Given the description of an element on the screen output the (x, y) to click on. 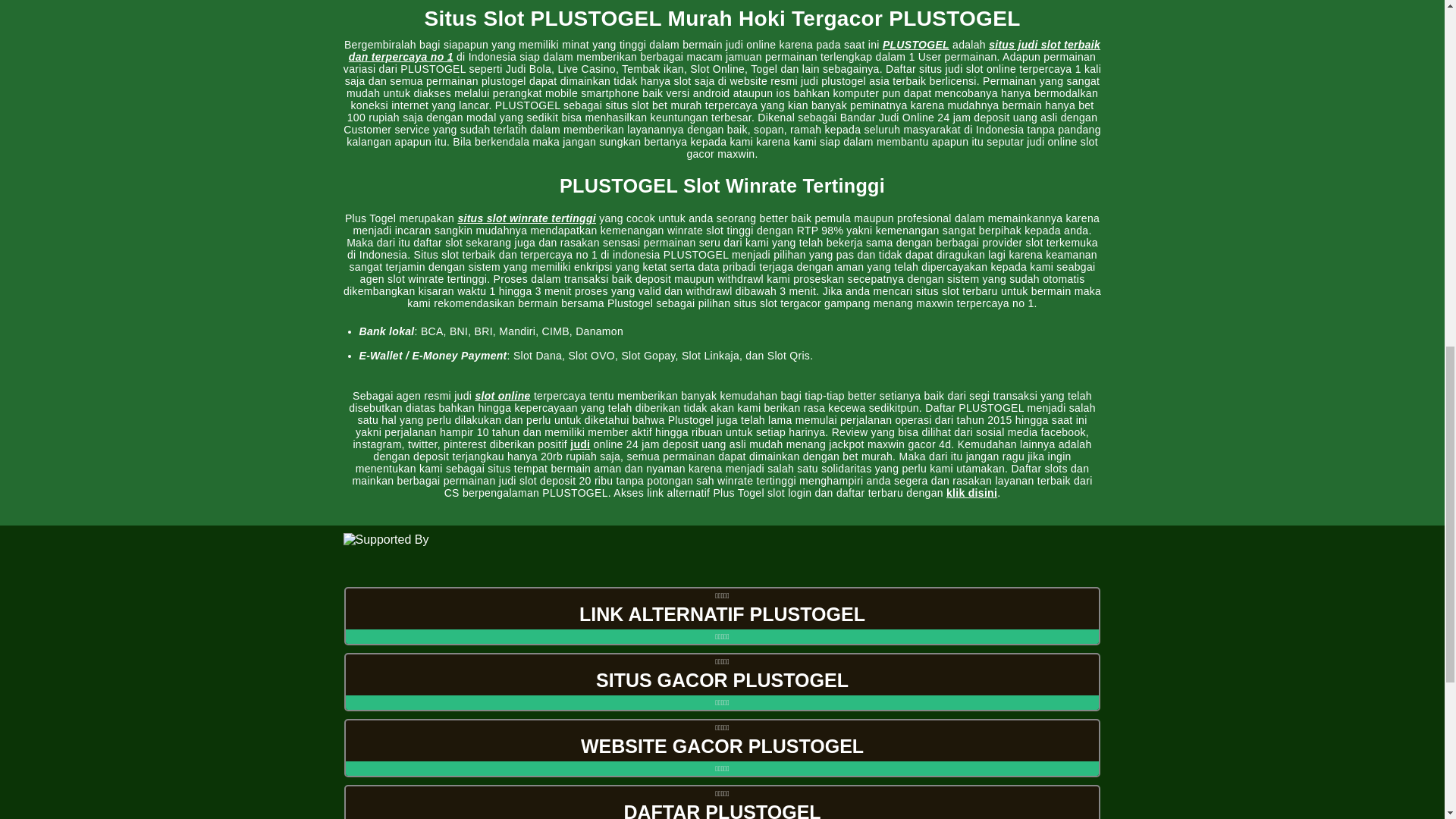
situs judi slot terbaik dan terpercaya no 1 (724, 50)
slot online (501, 395)
Supported By (721, 558)
klik disini (971, 492)
PLUSTOGEL (915, 44)
judi (579, 444)
situs slot winrate tertinggi (526, 218)
